Given the description of an element on the screen output the (x, y) to click on. 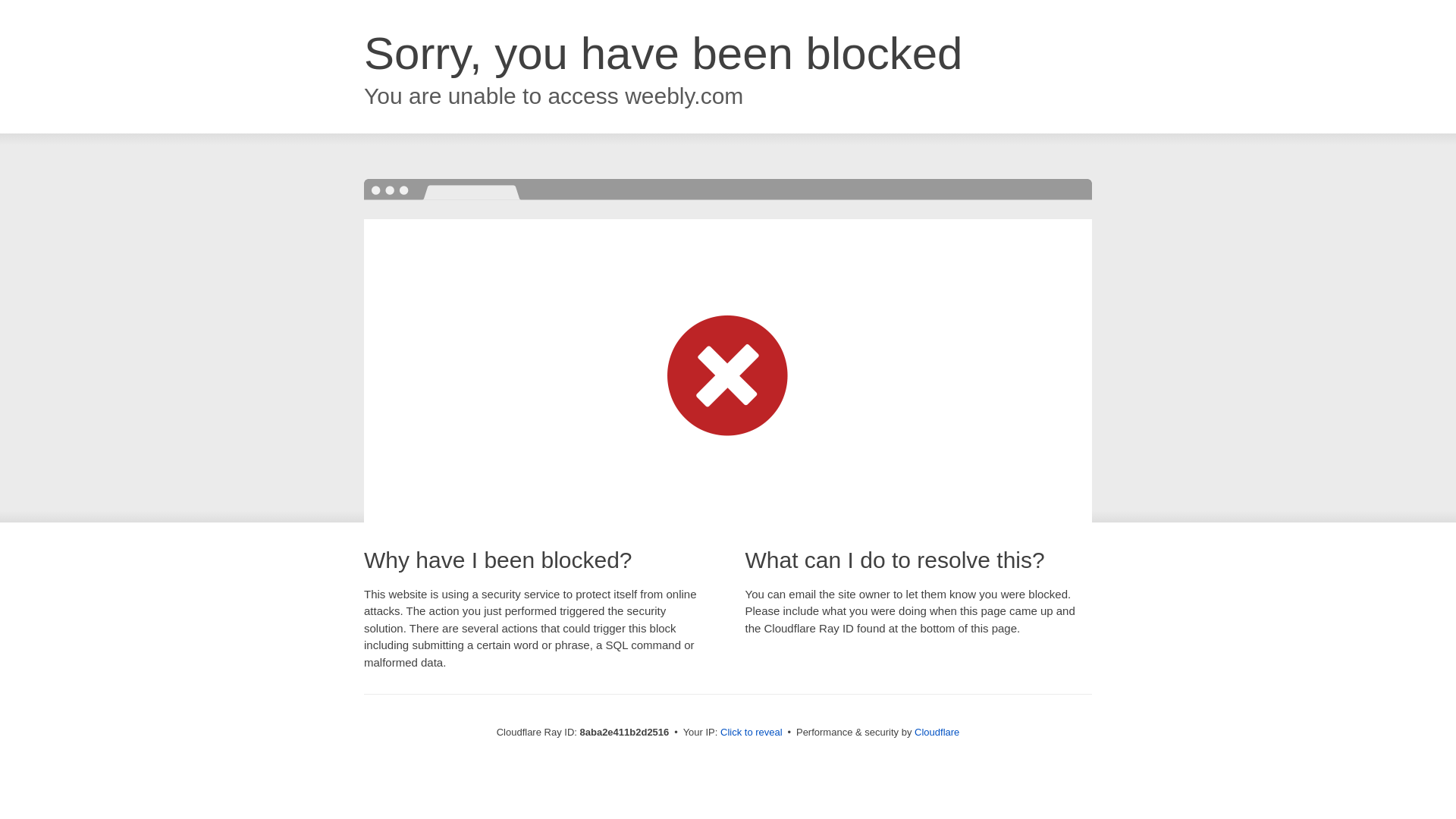
Cloudflare (936, 731)
Click to reveal (751, 732)
